Given the description of an element on the screen output the (x, y) to click on. 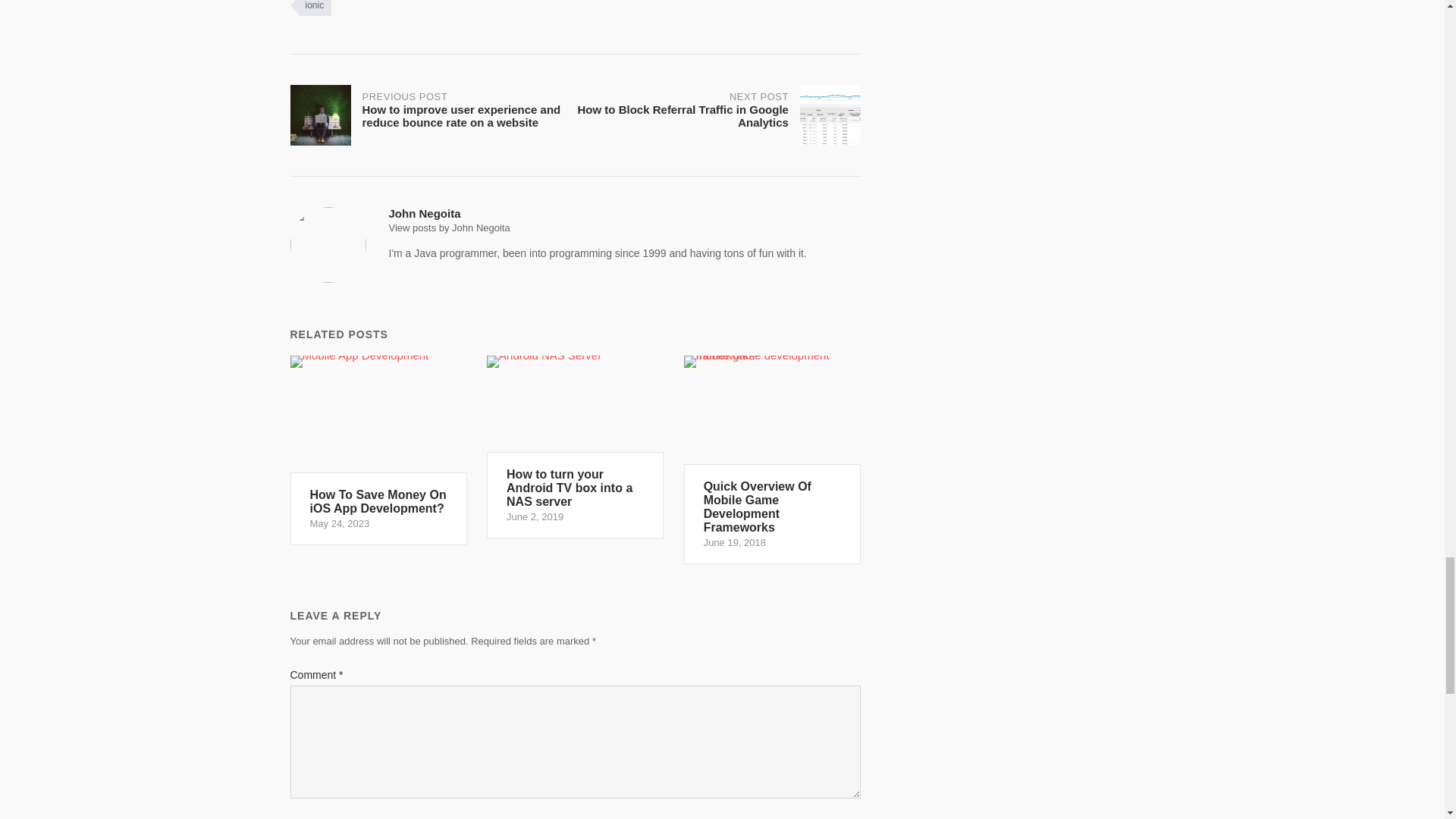
How to turn your Android TV box into a NAS server (717, 115)
ionic (574, 446)
How To Save Money On iOS App Development? (310, 7)
